Given the description of an element on the screen output the (x, y) to click on. 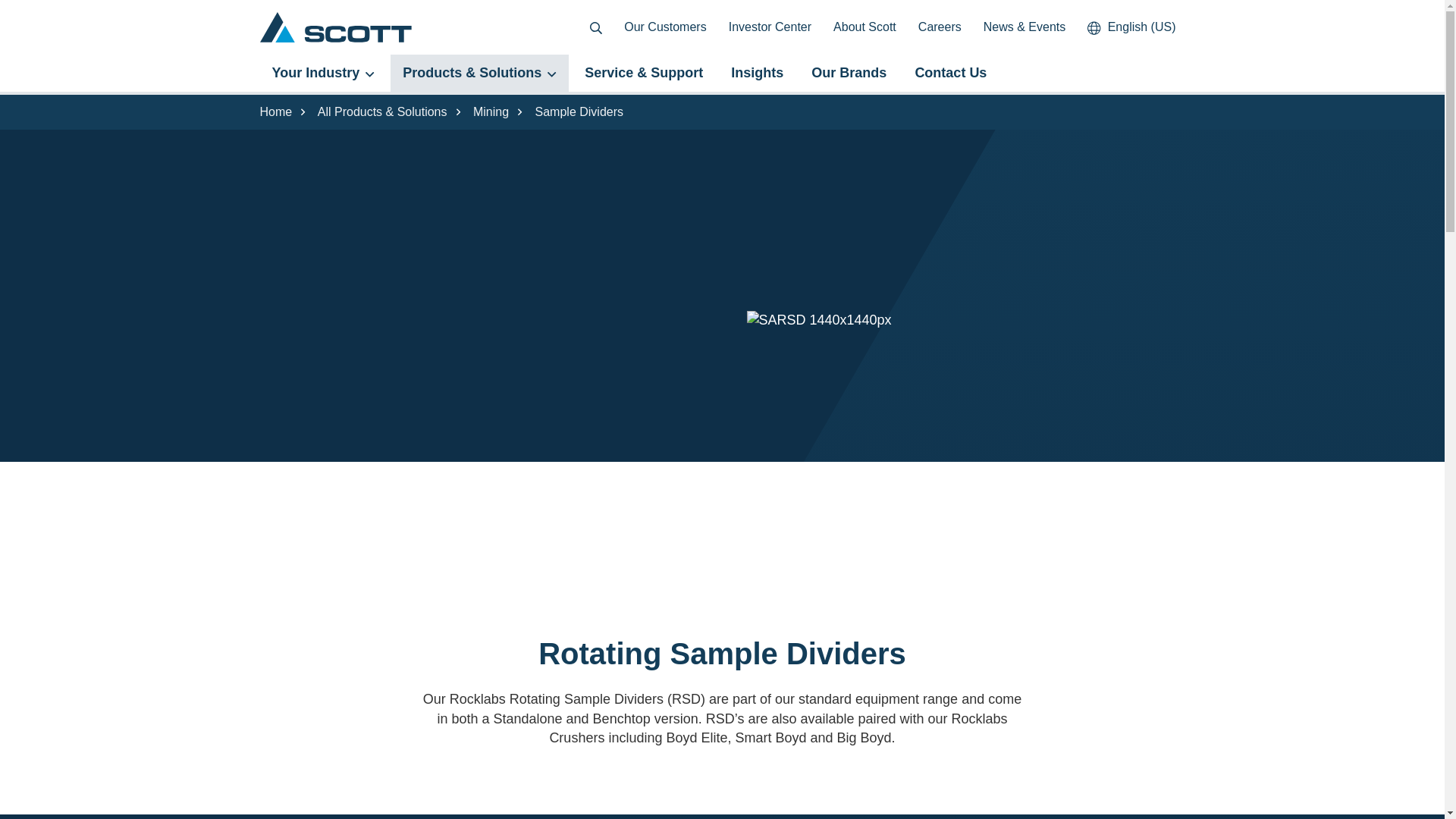
Careers (939, 27)
Investor Center (770, 27)
Our Customers (664, 27)
About Scott (864, 27)
Your Industry (323, 72)
